Given the description of an element on the screen output the (x, y) to click on. 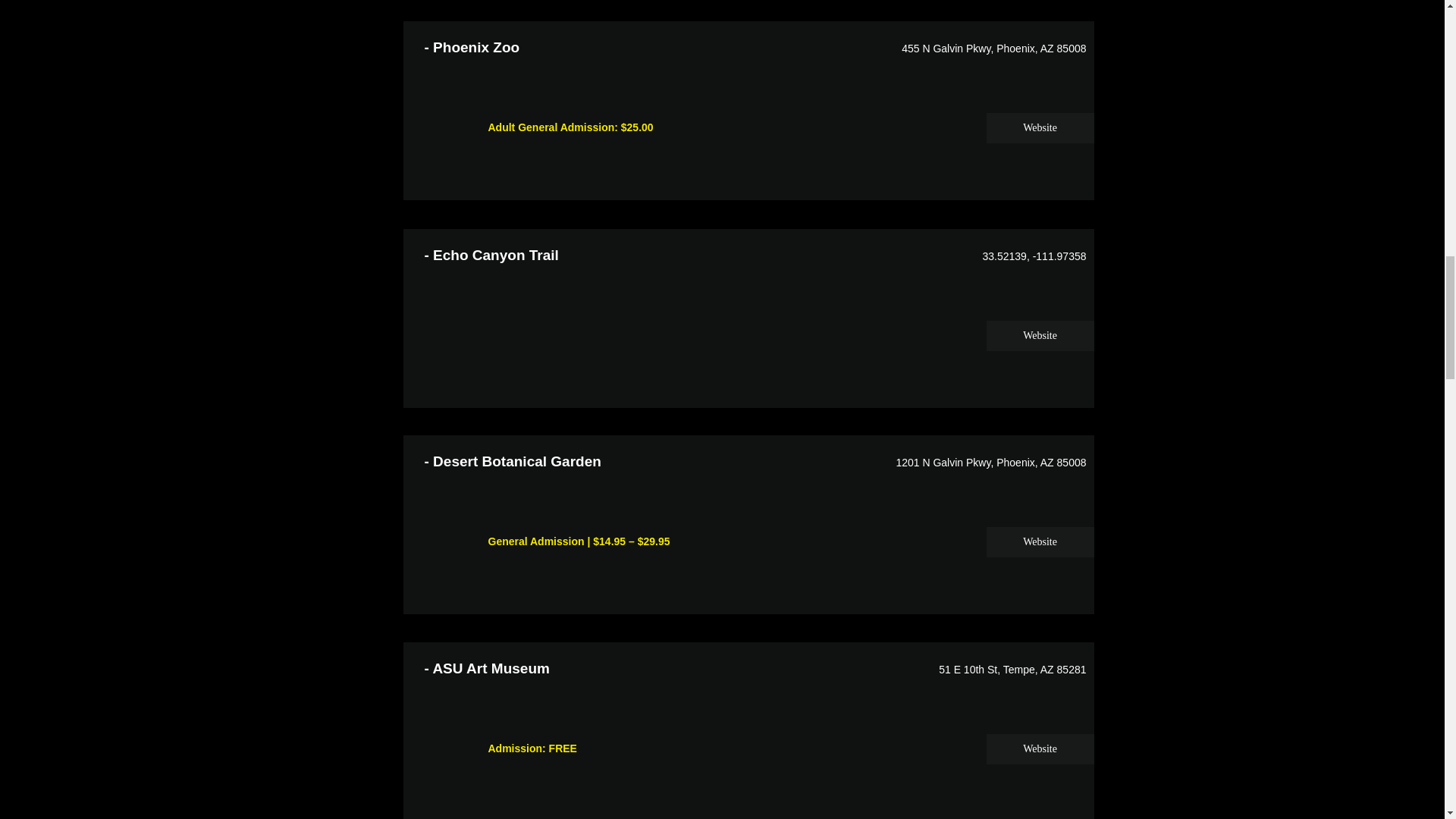
Website (1039, 542)
Website (1039, 128)
Website (1039, 336)
Website (1039, 748)
